Given the description of an element on the screen output the (x, y) to click on. 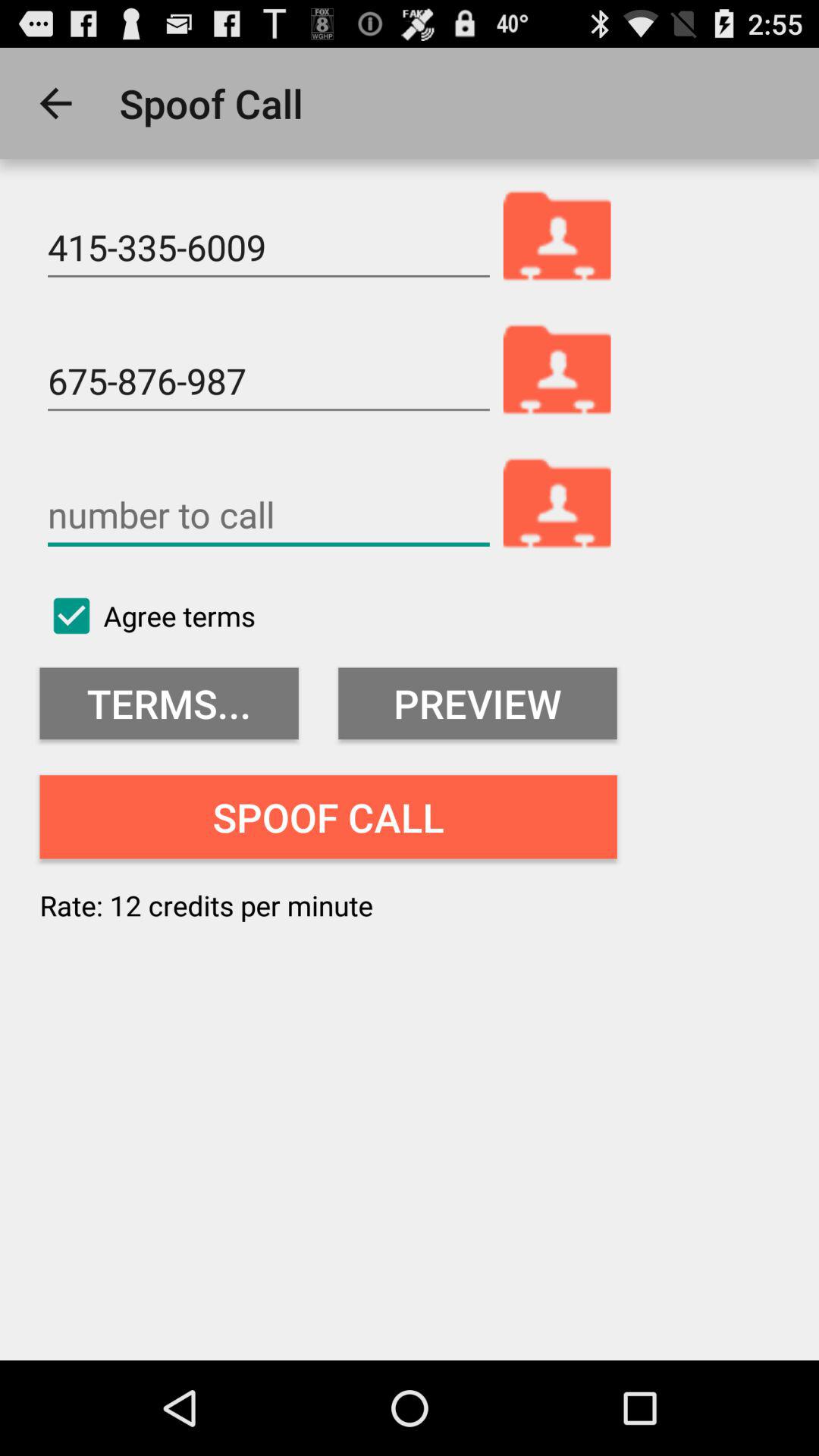
swipe to terms... item (168, 703)
